Given the description of an element on the screen output the (x, y) to click on. 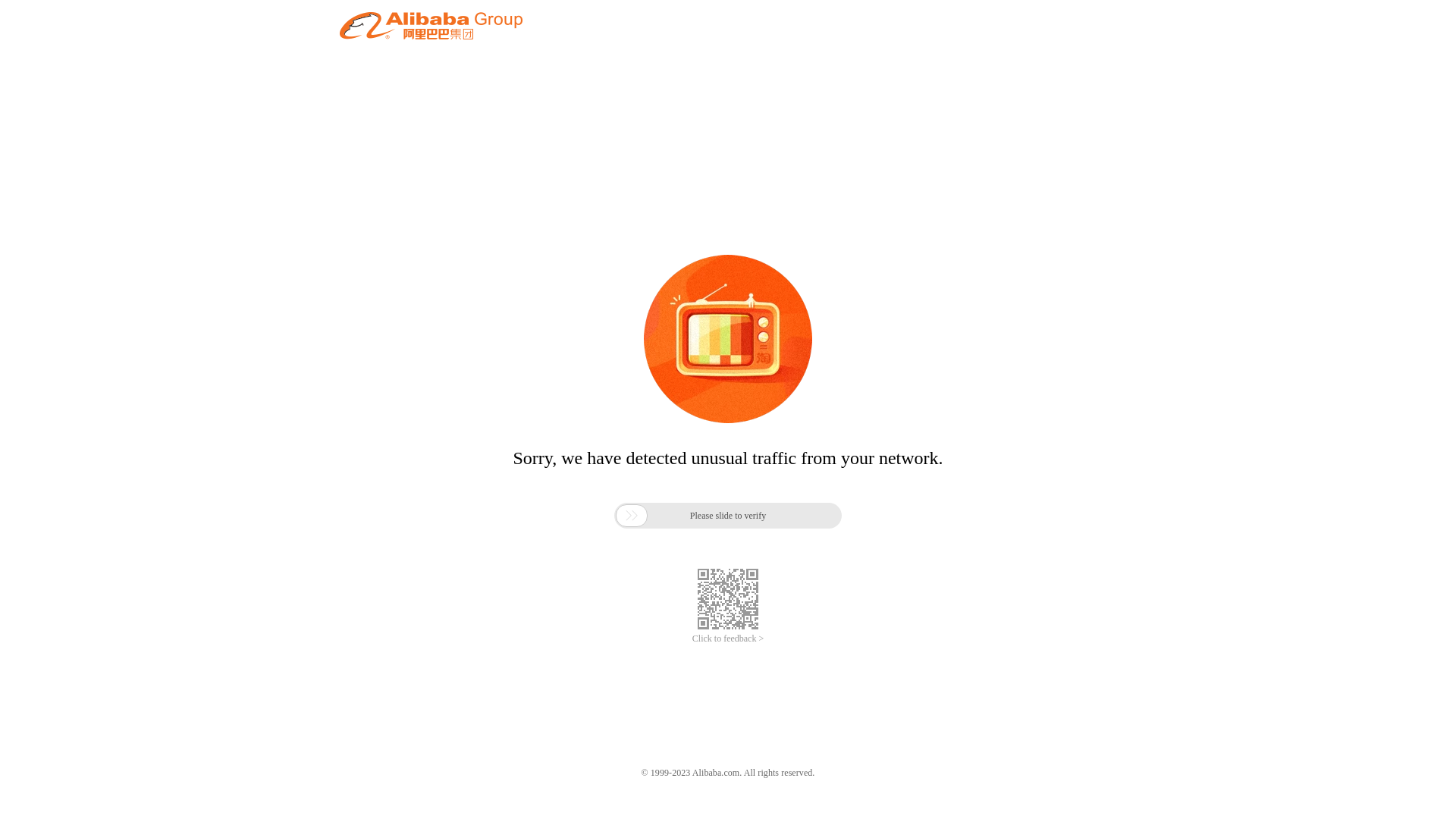
Click to feedback > Element type: text (727, 638)
